Given the description of an element on the screen output the (x, y) to click on. 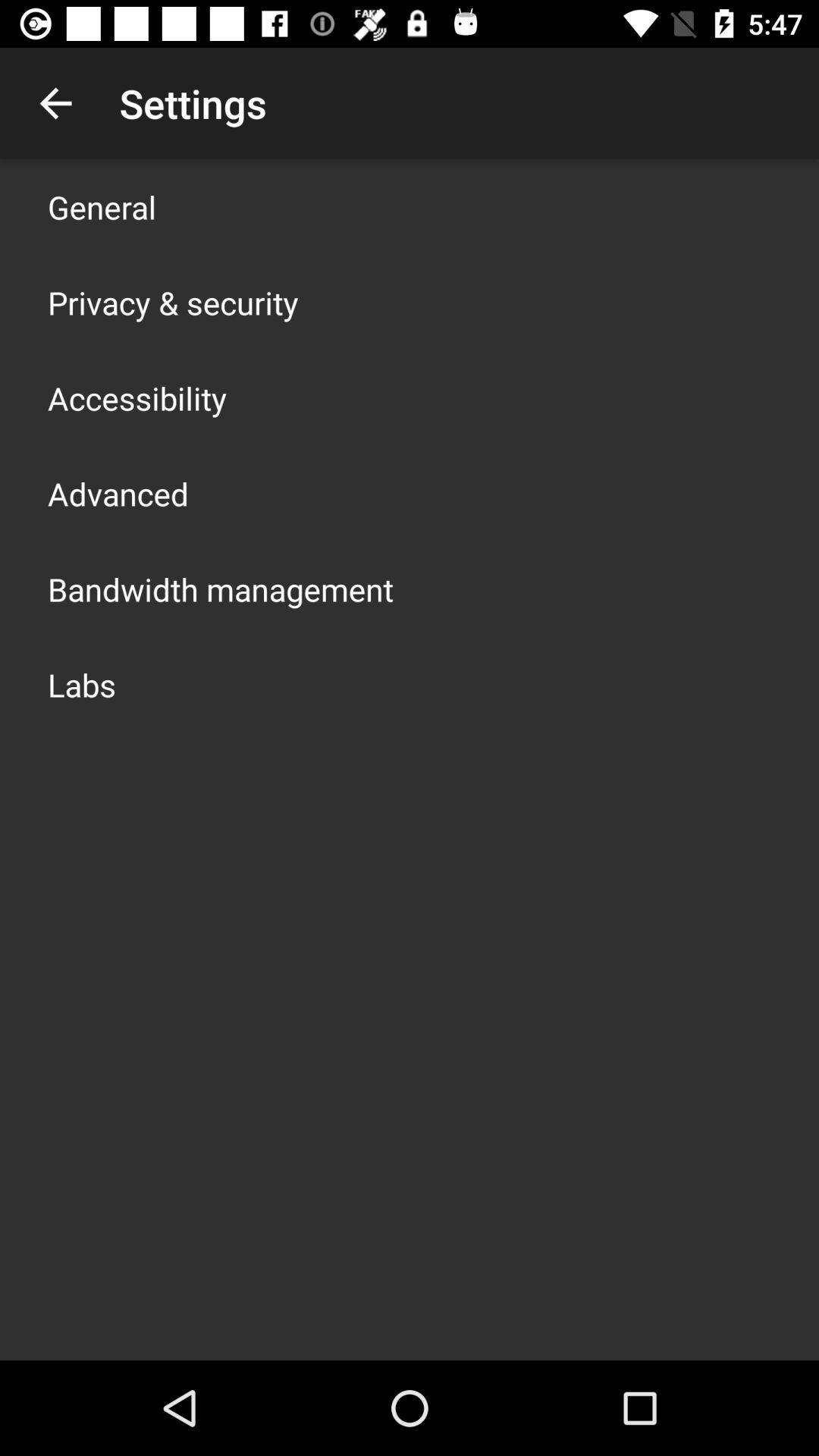
choose the accessibility item (136, 397)
